Given the description of an element on the screen output the (x, y) to click on. 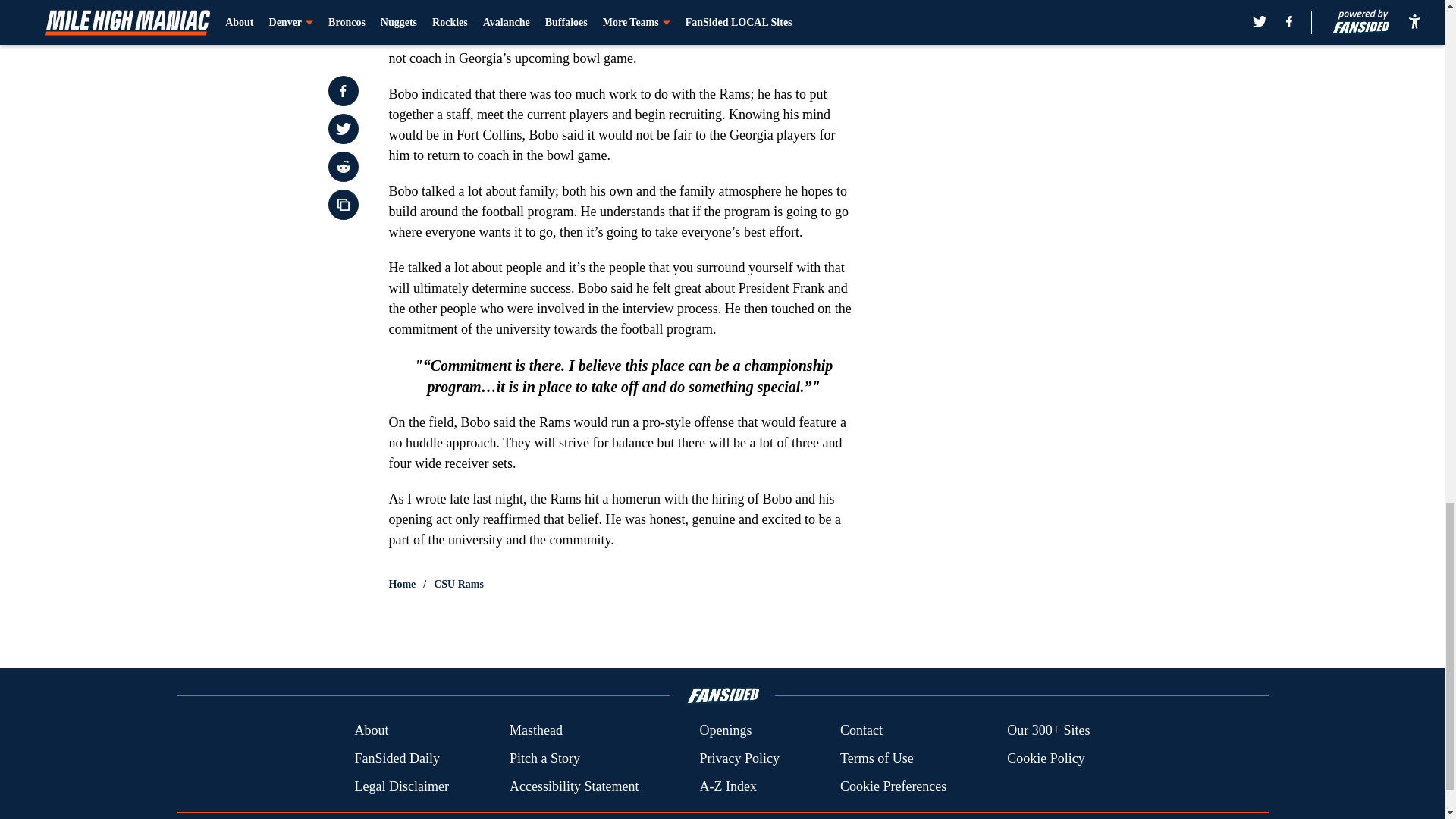
Contact (861, 730)
FanSided Daily (396, 758)
Privacy Policy (738, 758)
Home (401, 584)
Masthead (535, 730)
Openings (724, 730)
Accessibility Statement (574, 786)
Cookie Policy (1045, 758)
Terms of Use (877, 758)
CSU Rams (458, 584)
